Given the description of an element on the screen output the (x, y) to click on. 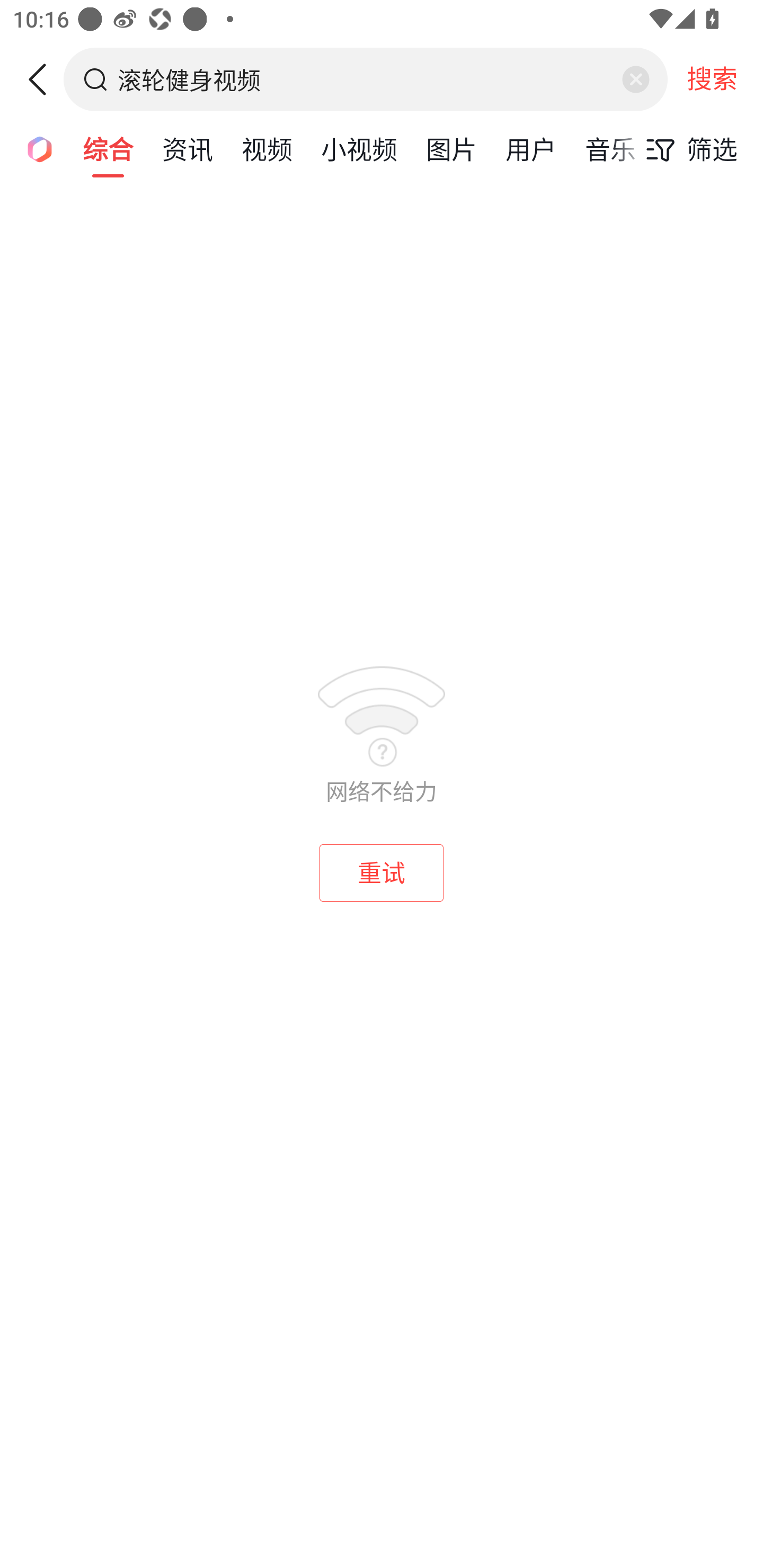
搜索框，滚轮健身视频 (366, 79)
搜索 (711, 79)
返回 (44, 79)
清除 (635, 79)
资讯 (187, 148)
视频 (266, 148)
小视频 (359, 148)
图片 (451, 148)
用户 (530, 148)
音乐 (610, 148)
筛选 (686, 149)
AI问答 (34, 148)
重试 (381, 873)
